Given the description of an element on the screen output the (x, y) to click on. 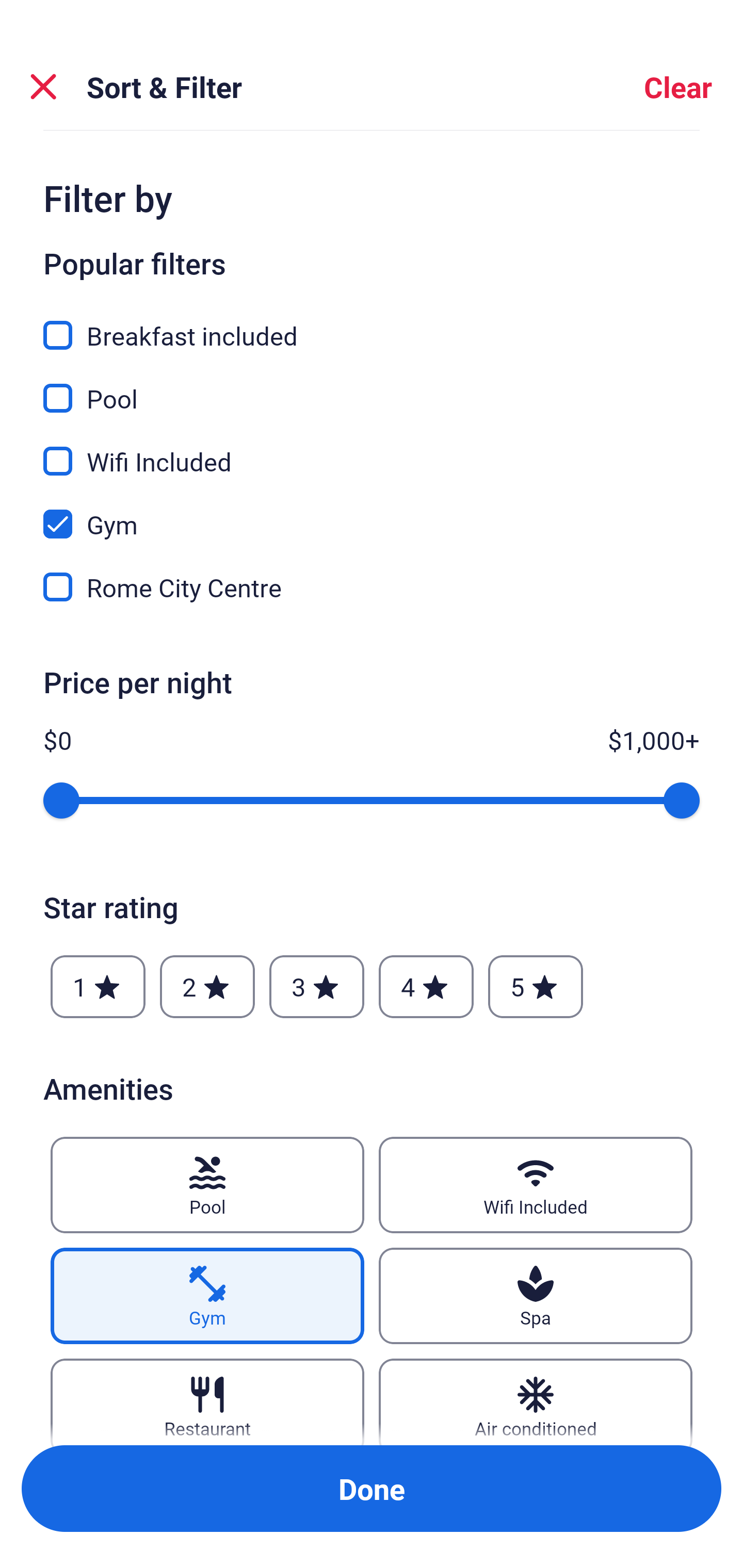
Close Sort and Filter (43, 86)
Clear (677, 86)
Breakfast included, Breakfast included (371, 324)
Pool, Pool (371, 386)
Wifi Included, Wifi Included (371, 449)
Gym, Gym (371, 512)
Rome City Centre, Rome City Centre (371, 587)
1 (97, 986)
2 (206, 986)
3 (316, 986)
4 (426, 986)
5 (535, 986)
Pool (207, 1185)
Wifi Included (535, 1185)
Gym (207, 1295)
Spa (535, 1295)
Restaurant (207, 1401)
Air conditioned (535, 1401)
Apply and close Sort and Filter Done (371, 1488)
